Given the description of an element on the screen output the (x, y) to click on. 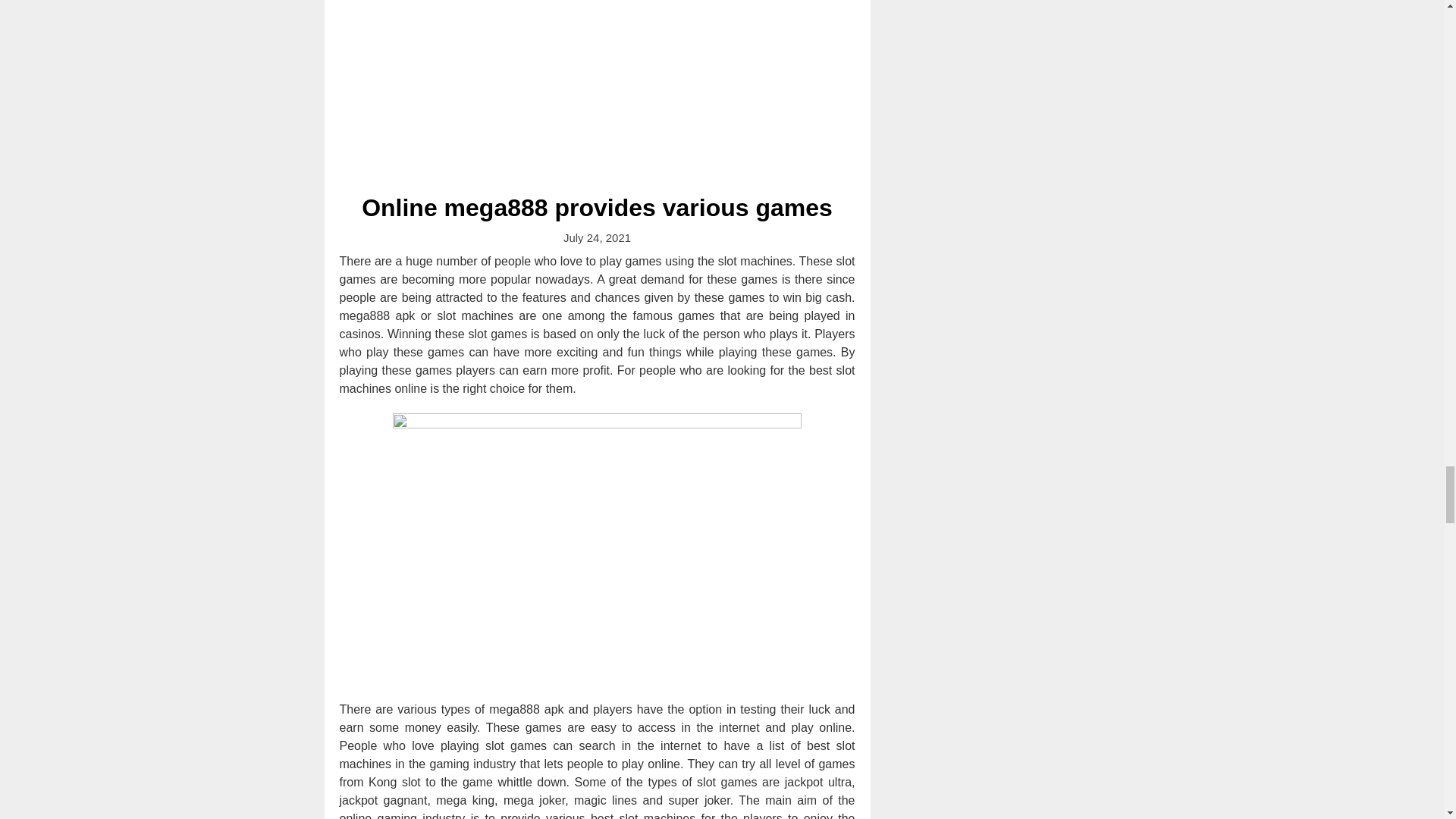
Online mega888 provides various games (596, 207)
Online mega888 provides various games (597, 88)
Online mega888 provides various games (596, 207)
